Given the description of an element on the screen output the (x, y) to click on. 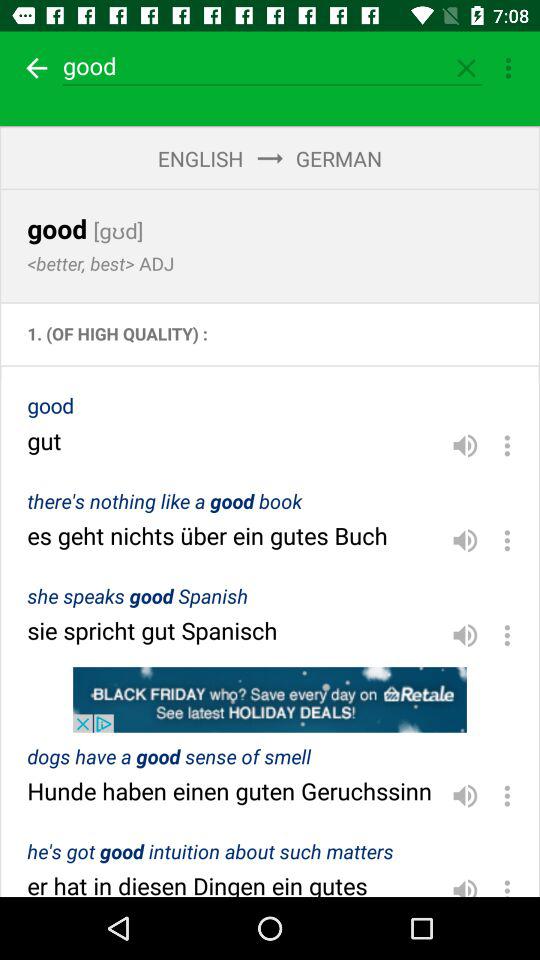
dictate loudly (465, 883)
